Given the description of an element on the screen output the (x, y) to click on. 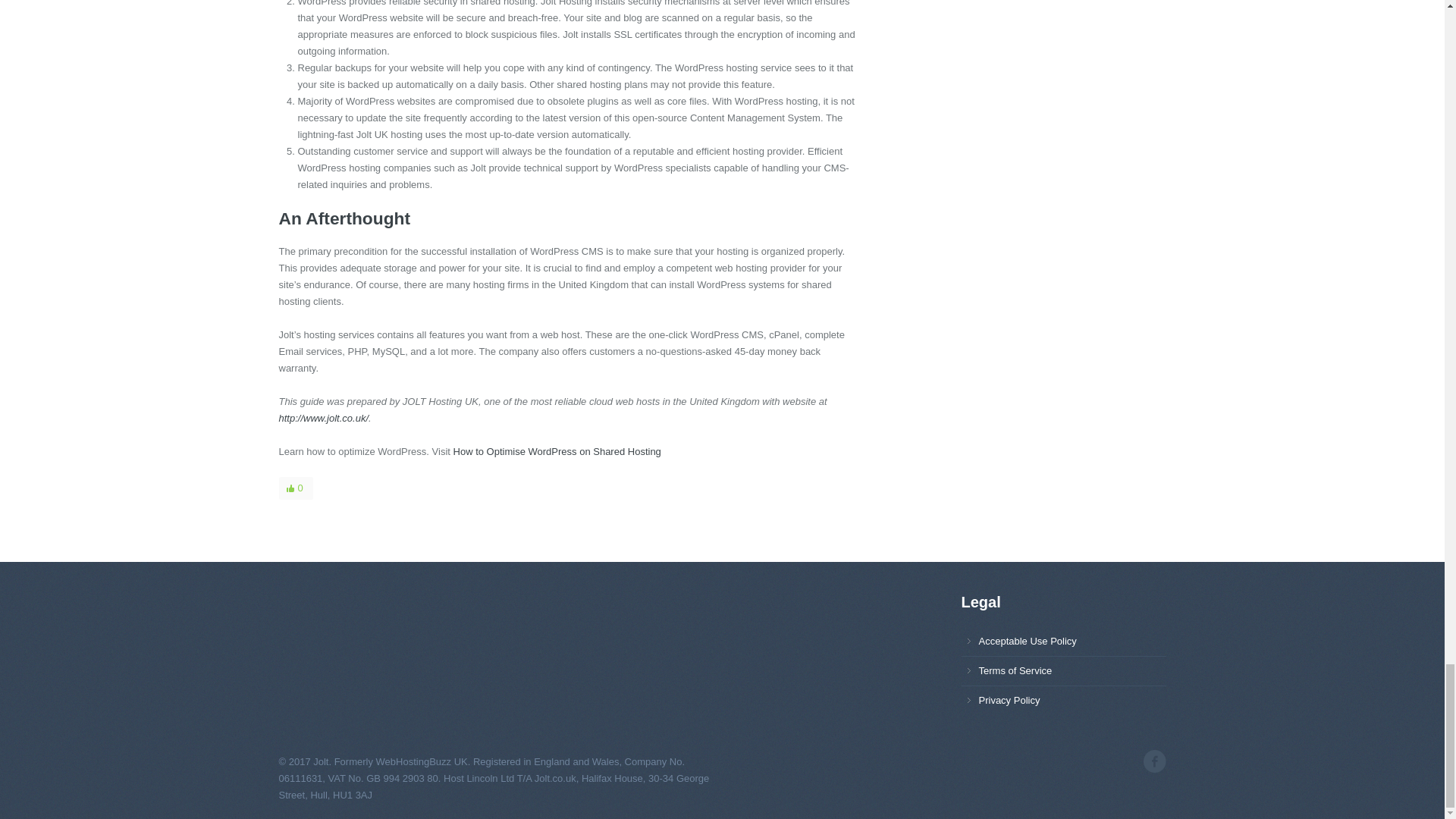
How to Optimise WordPress on Shared Hosting (556, 451)
